Given the description of an element on the screen output the (x, y) to click on. 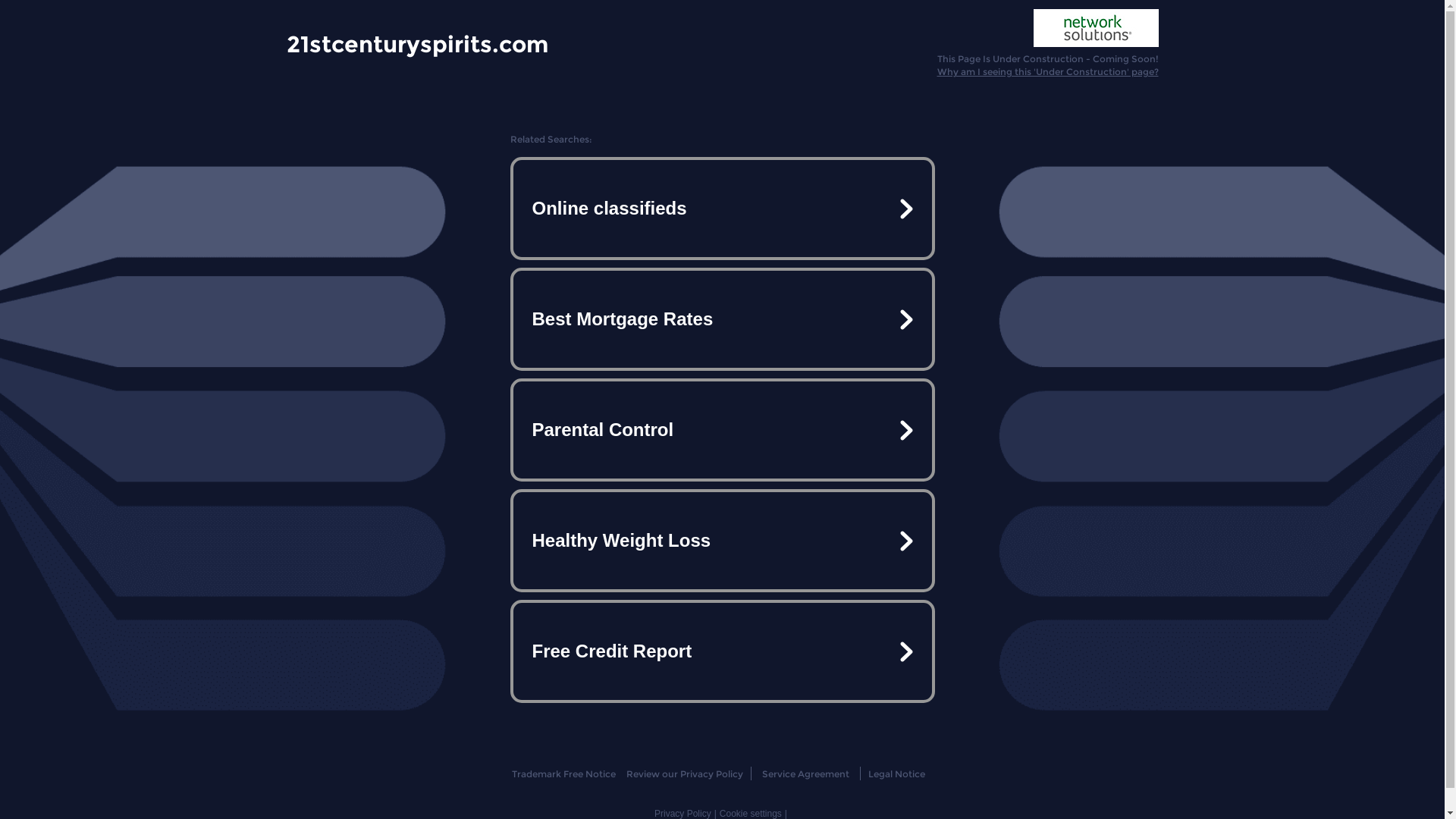
Healthy Weight Loss Element type: text (721, 540)
Legal Notice Element type: text (896, 773)
21stcenturyspirits.com Element type: text (417, 43)
Online classifieds Element type: text (721, 208)
Free Credit Report Element type: text (721, 650)
Service Agreement Element type: text (805, 773)
Parental Control Element type: text (721, 429)
Why am I seeing this 'Under Construction' page? Element type: text (1047, 71)
Best Mortgage Rates Element type: text (721, 318)
Trademark Free Notice Element type: text (563, 773)
Review our Privacy Policy Element type: text (684, 773)
